Given the description of an element on the screen output the (x, y) to click on. 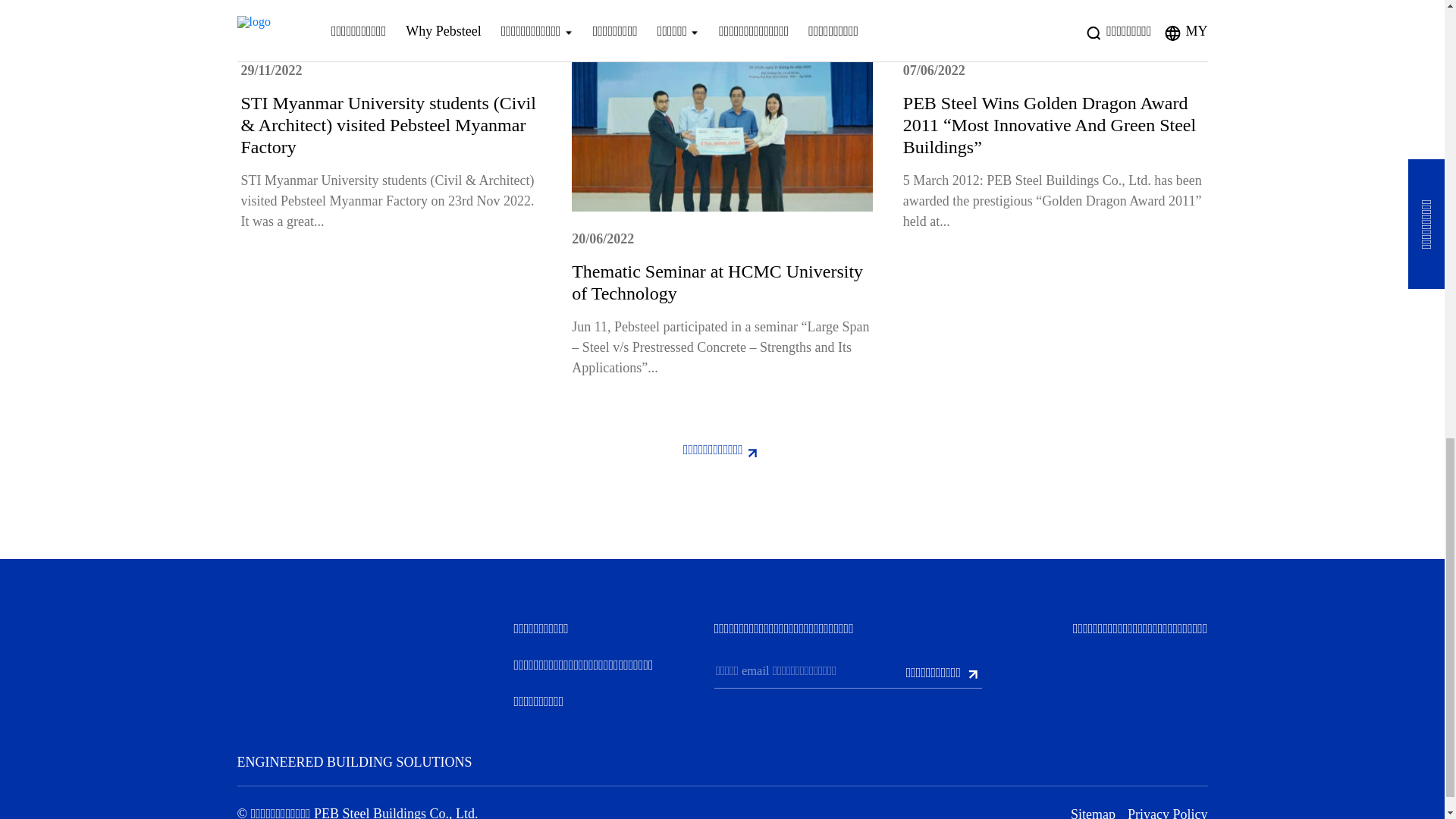
Thematic Seminar at HCMC University of Technology (717, 282)
